Given the description of an element on the screen output the (x, y) to click on. 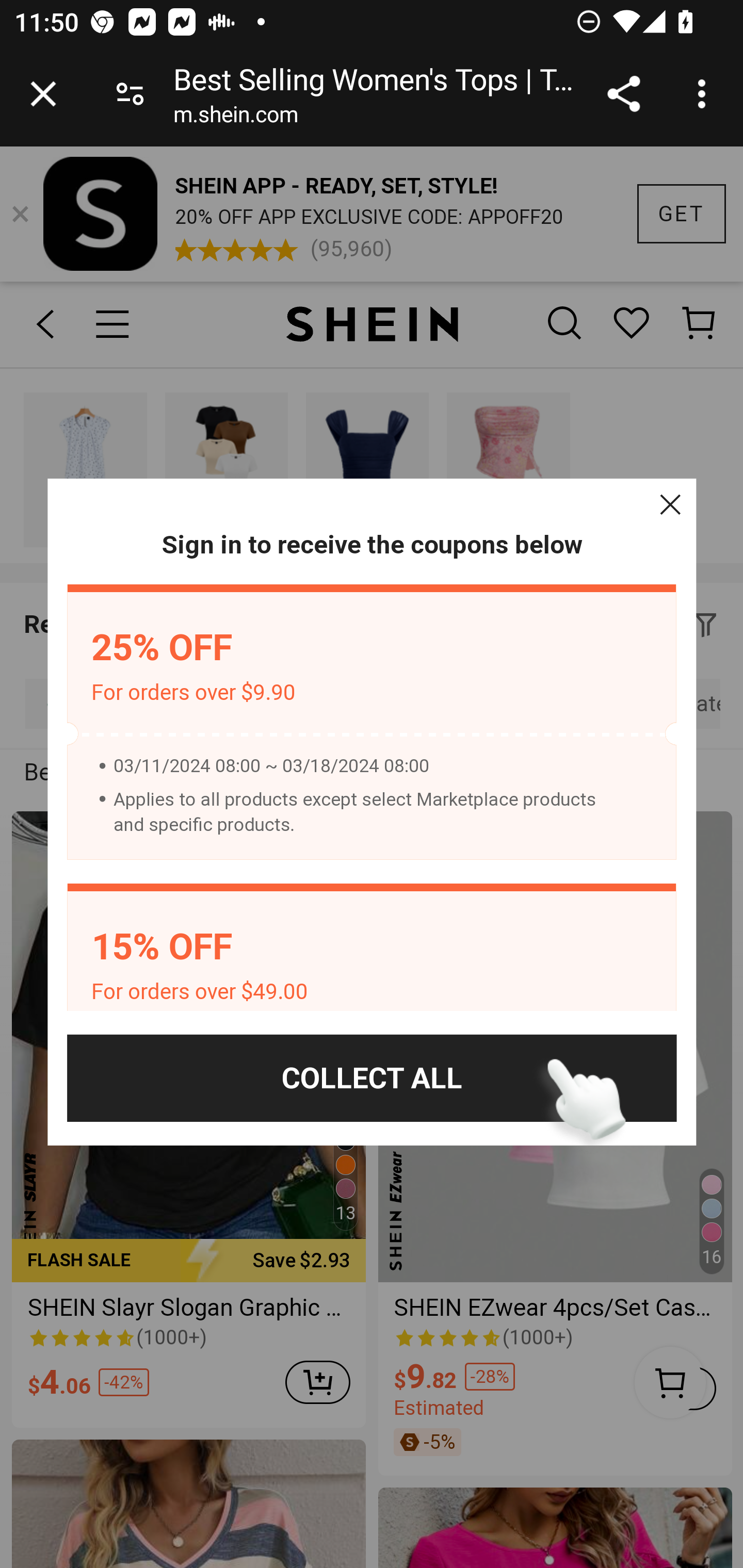
Close tab (43, 93)
Share link address (623, 93)
Customize and control Google Chrome (705, 93)
Connection is secure (129, 93)
m.shein.com (235, 117)
Close (669, 503)
COLLECT ALL (371, 1077)
